Given the description of an element on the screen output the (x, y) to click on. 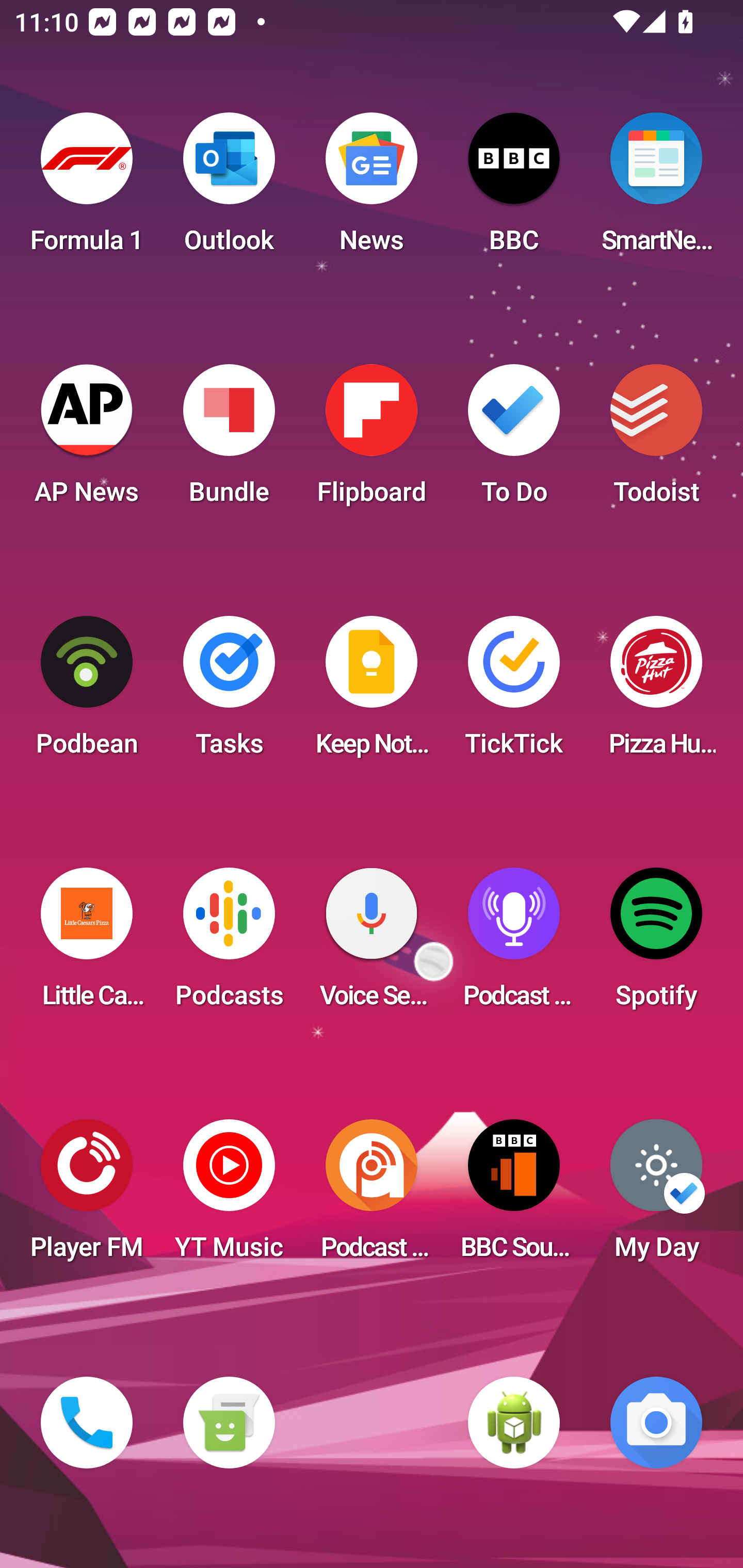
Formula 1 (86, 188)
Outlook (228, 188)
News (371, 188)
BBC (513, 188)
SmartNews (656, 188)
AP News (86, 440)
Bundle (228, 440)
Flipboard (371, 440)
To Do (513, 440)
Todoist (656, 440)
Podbean (86, 692)
Tasks (228, 692)
Keep Notes (371, 692)
TickTick (513, 692)
Pizza Hut HK & Macau (656, 692)
Little Caesars Pizza (86, 943)
Podcasts (228, 943)
Voice Search (371, 943)
Podcast Player (513, 943)
Spotify (656, 943)
Player FM (86, 1195)
YT Music (228, 1195)
Podcast Addict (371, 1195)
BBC Sounds (513, 1195)
My Day (656, 1195)
Phone (86, 1422)
Messaging (228, 1422)
WebView Browser Tester (513, 1422)
Camera (656, 1422)
